Given the description of an element on the screen output the (x, y) to click on. 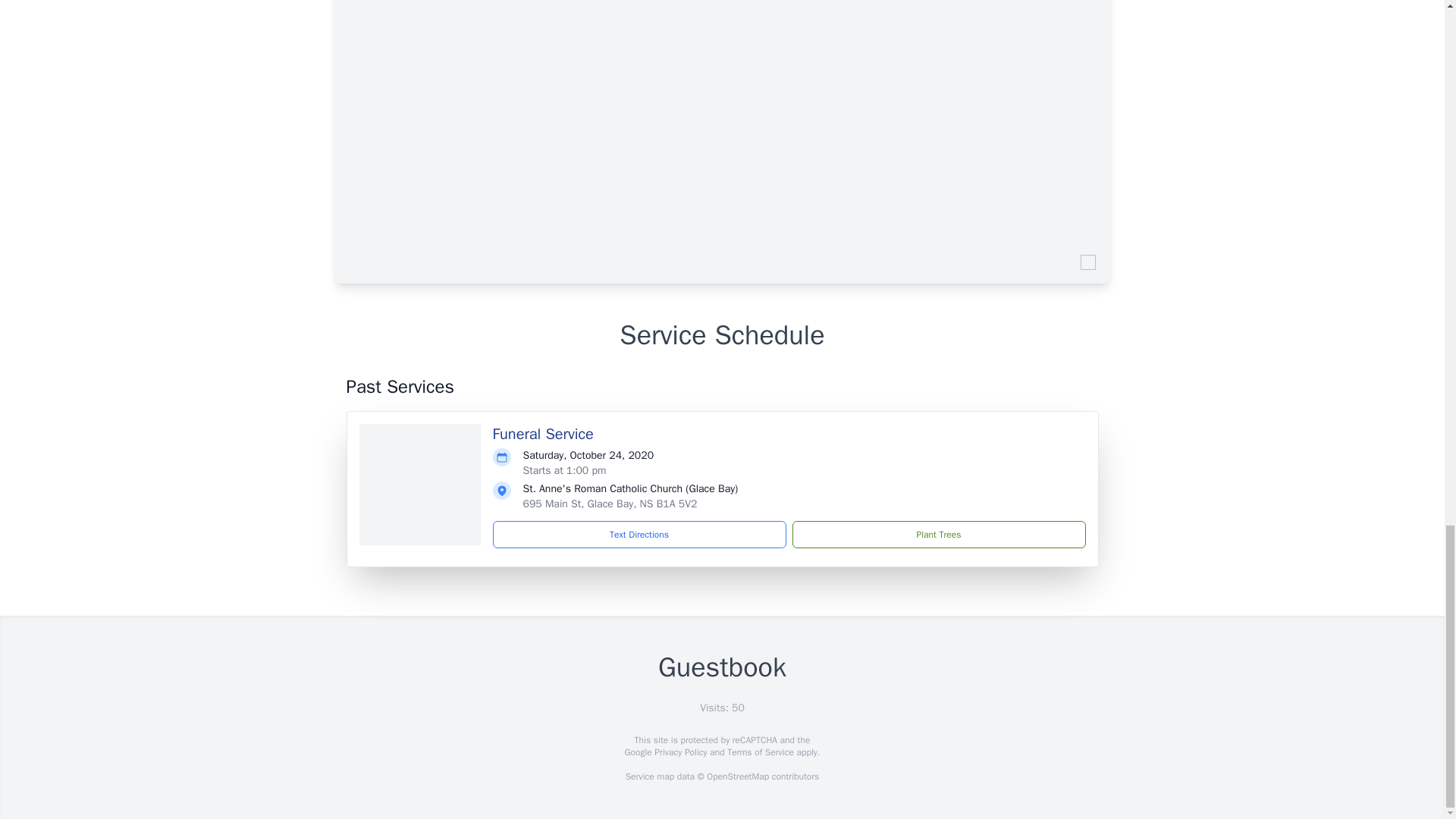
Plant Trees (938, 533)
Terms of Service (759, 752)
Text Directions (639, 533)
Privacy Policy (679, 752)
695 Main St, Glace Bay, NS B1A 5V2 (609, 503)
OpenStreetMap (737, 776)
